Given the description of an element on the screen output the (x, y) to click on. 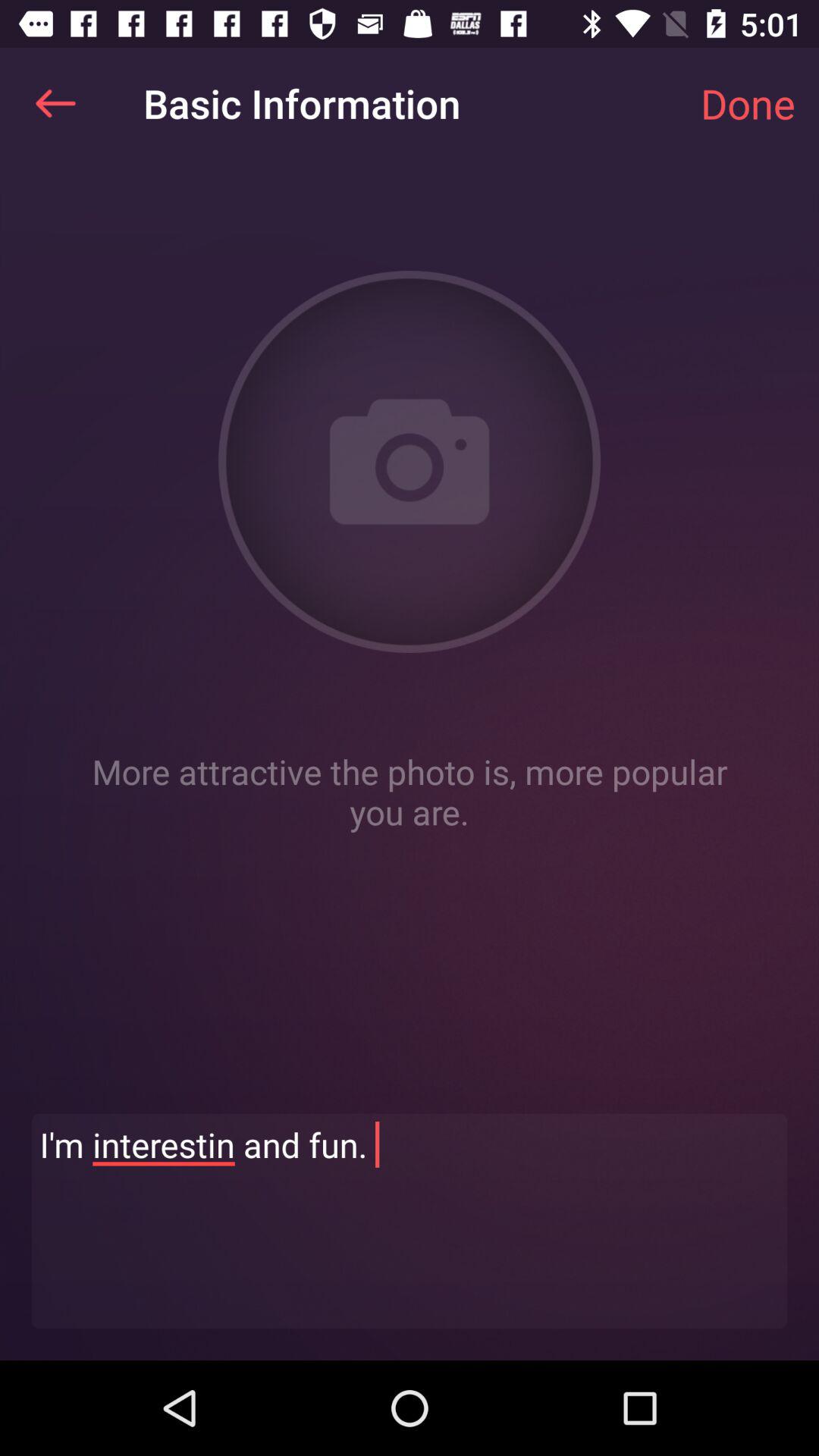
turn off the app next to basic information (747, 103)
